Given the description of an element on the screen output the (x, y) to click on. 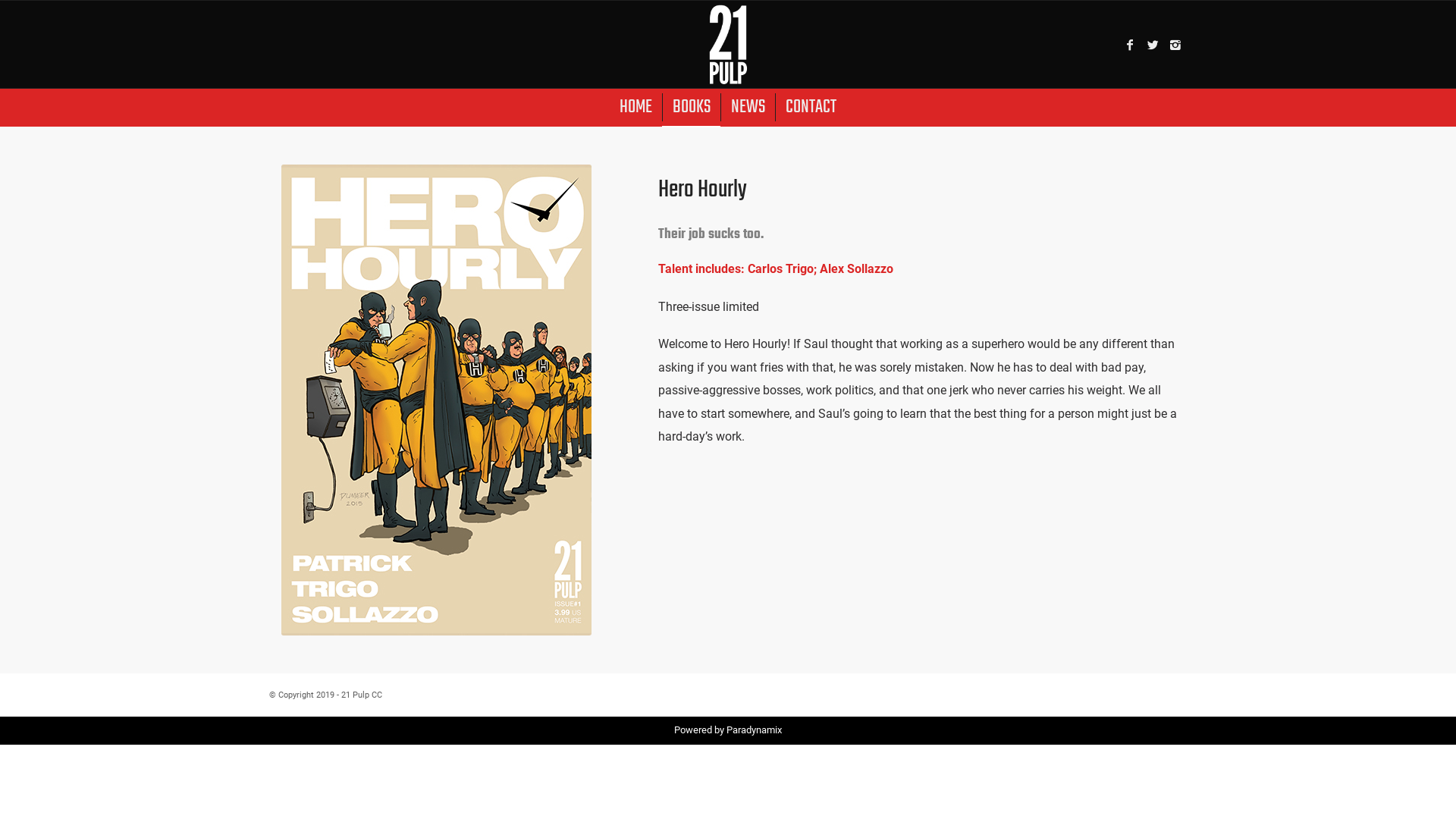
BOOKS Element type: text (691, 107)
HOME Element type: text (635, 107)
Facebook Element type: hover (1129, 692)
Paradynamix Element type: text (753, 729)
Instagram Element type: hover (1175, 44)
Twitter Element type: hover (1152, 44)
Instagram Element type: hover (1175, 692)
NEWS Element type: text (747, 107)
CONTACT Element type: text (810, 107)
hero_hourly_cover Element type: hover (436, 399)
Twitter Element type: hover (1152, 692)
Facebook Element type: hover (1129, 44)
